Given the description of an element on the screen output the (x, y) to click on. 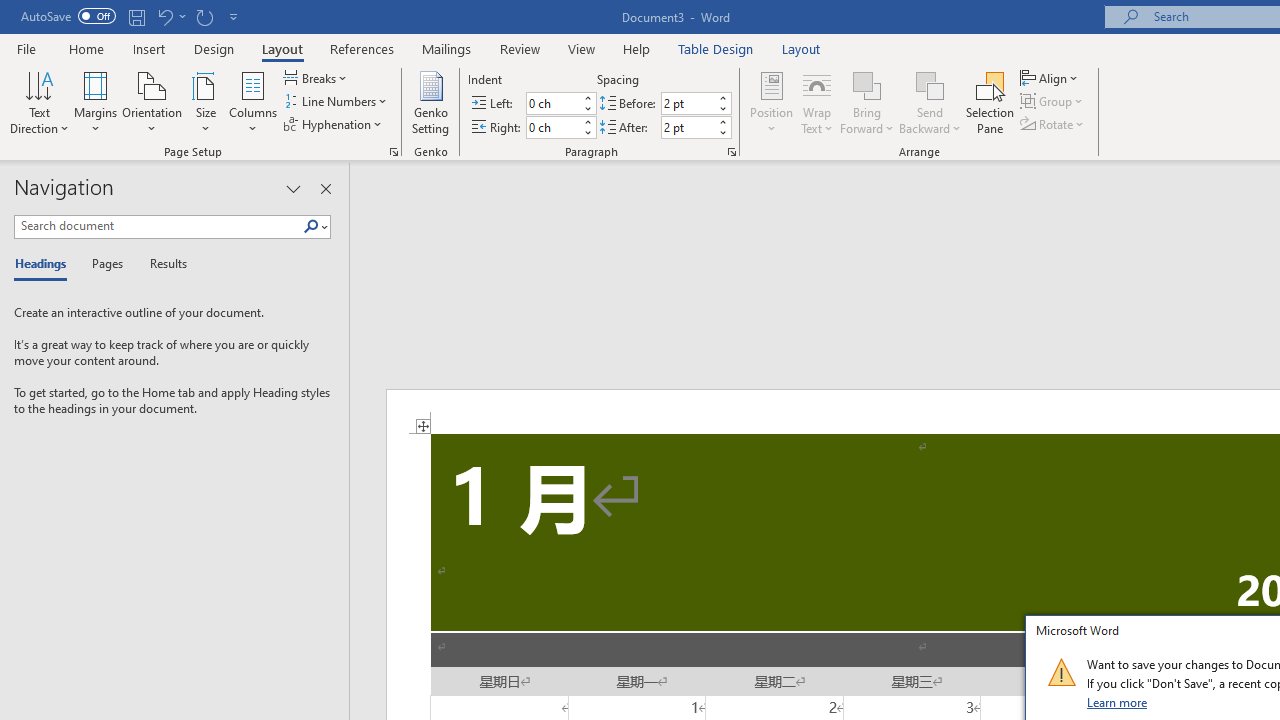
Search (311, 227)
Undo Increase Indent (170, 15)
Home (86, 48)
View (582, 48)
Search document (157, 226)
Breaks (317, 78)
Selection Pane... (990, 102)
Page Setup... (393, 151)
Help (637, 48)
Less (722, 132)
Repeat Doc Close (204, 15)
Pages (105, 264)
Save (136, 15)
Line Numbers (337, 101)
Results (161, 264)
